Given the description of an element on the screen output the (x, y) to click on. 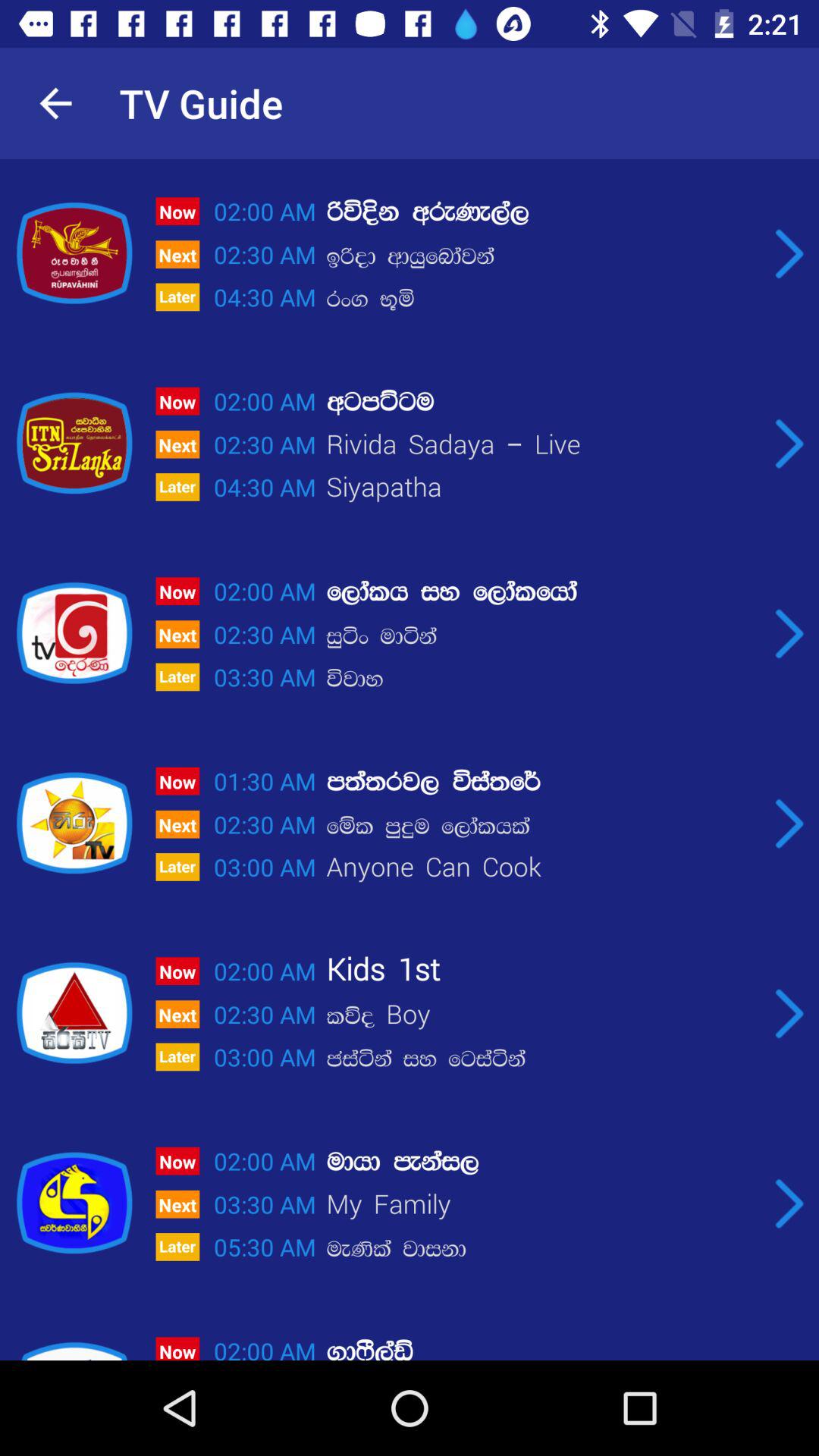
jump to anyone can cook (542, 868)
